Given the description of an element on the screen output the (x, y) to click on. 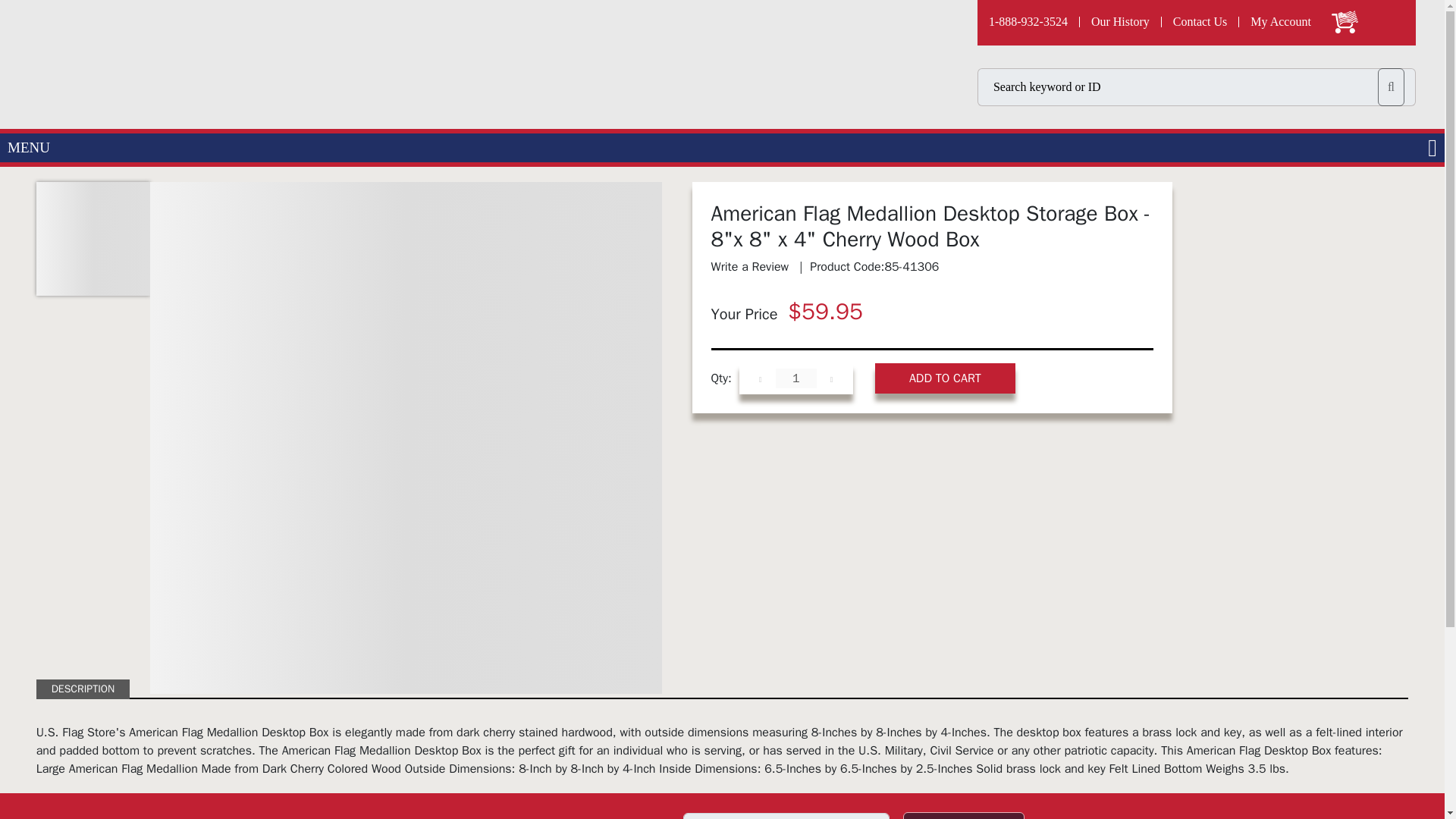
ADD TO CART (944, 378)
Our History (1120, 21)
Contact Us (1200, 21)
SUBSCRIBE (963, 815)
1 (796, 378)
1-888-932-3524 (1028, 21)
